Given the description of an element on the screen output the (x, y) to click on. 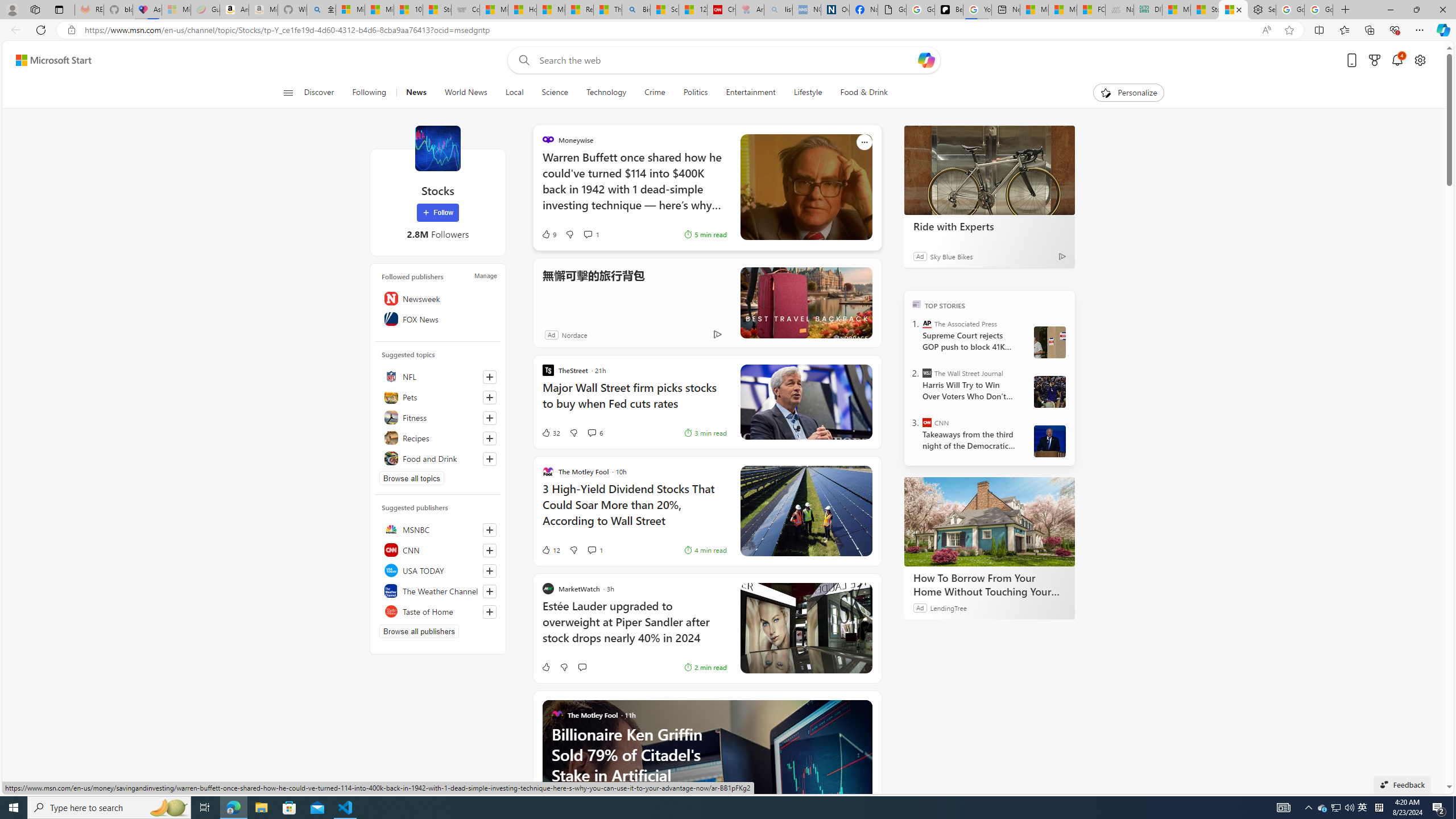
View comments 6 Comment (591, 432)
Stocks (437, 148)
See more (864, 707)
CNN (437, 549)
Entertainment (750, 92)
Follow this source (489, 612)
Open Copilot (925, 59)
32 Like (549, 432)
FOX News - MSN (1090, 9)
Web search (520, 60)
